Given the description of an element on the screen output the (x, y) to click on. 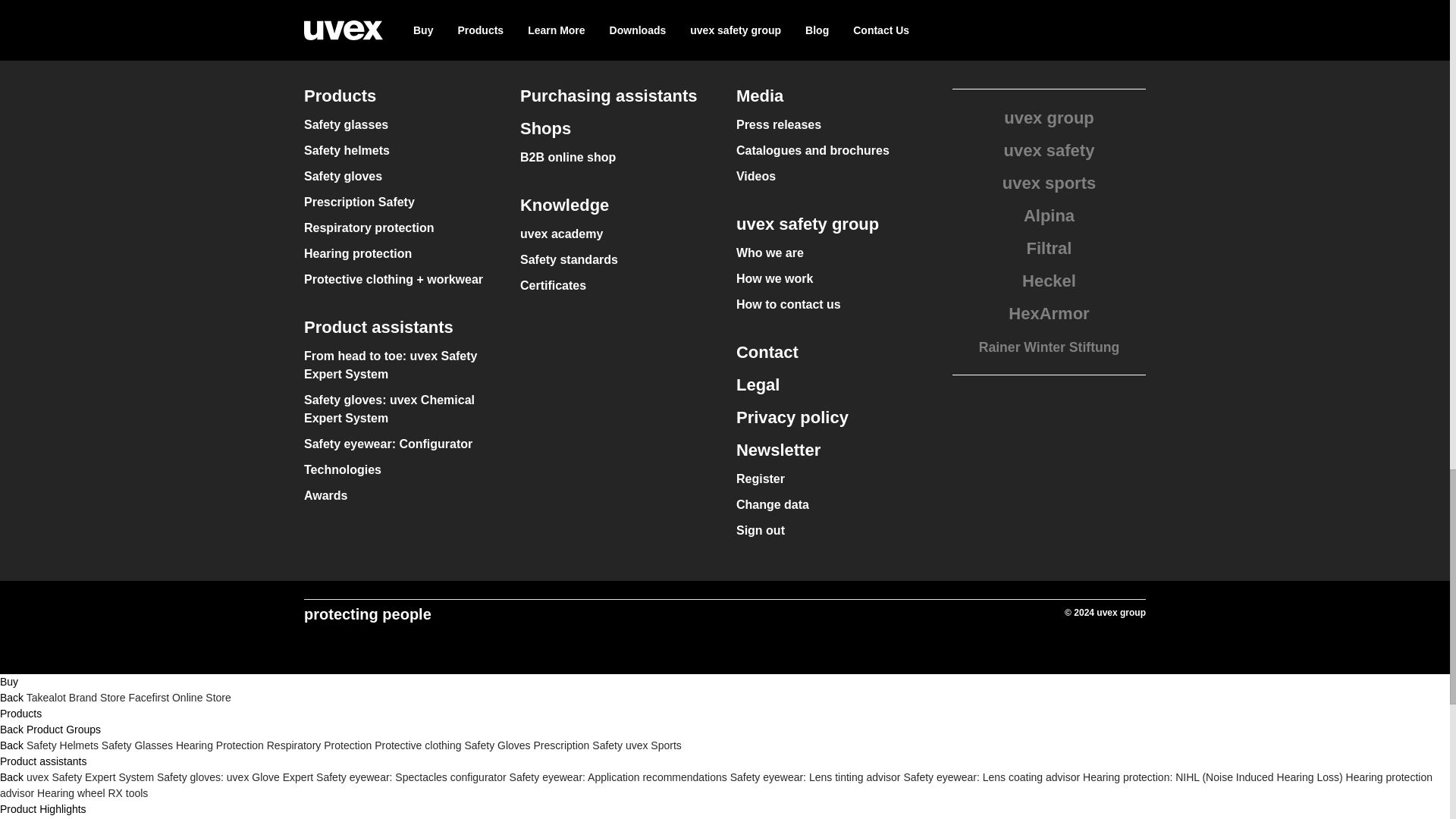
Youtube (839, 15)
Instagram (724, 15)
Rss (782, 15)
Linkedin (667, 15)
Facebook (608, 15)
